Given the description of an element on the screen output the (x, y) to click on. 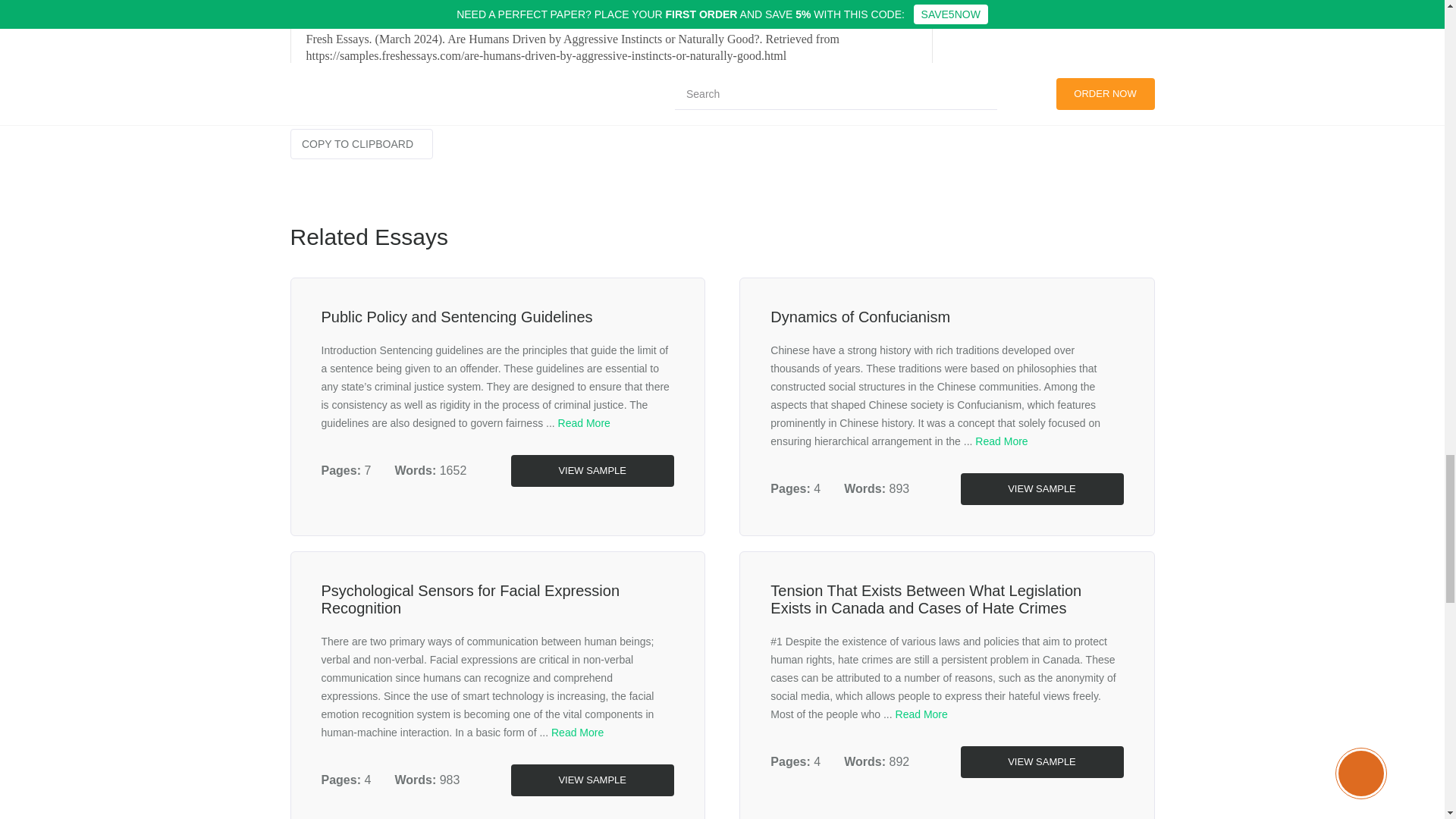
Dynamics of Confucianism (860, 316)
Read More (583, 422)
VIEW SAMPLE (1040, 489)
Read More (921, 714)
Public Policy and Sentencing Guidelines (456, 316)
VIEW SAMPLE (592, 470)
Read More (577, 732)
Psychological Sensors for Facial Expression Recognition (470, 599)
Read More (1001, 440)
